Given the description of an element on the screen output the (x, y) to click on. 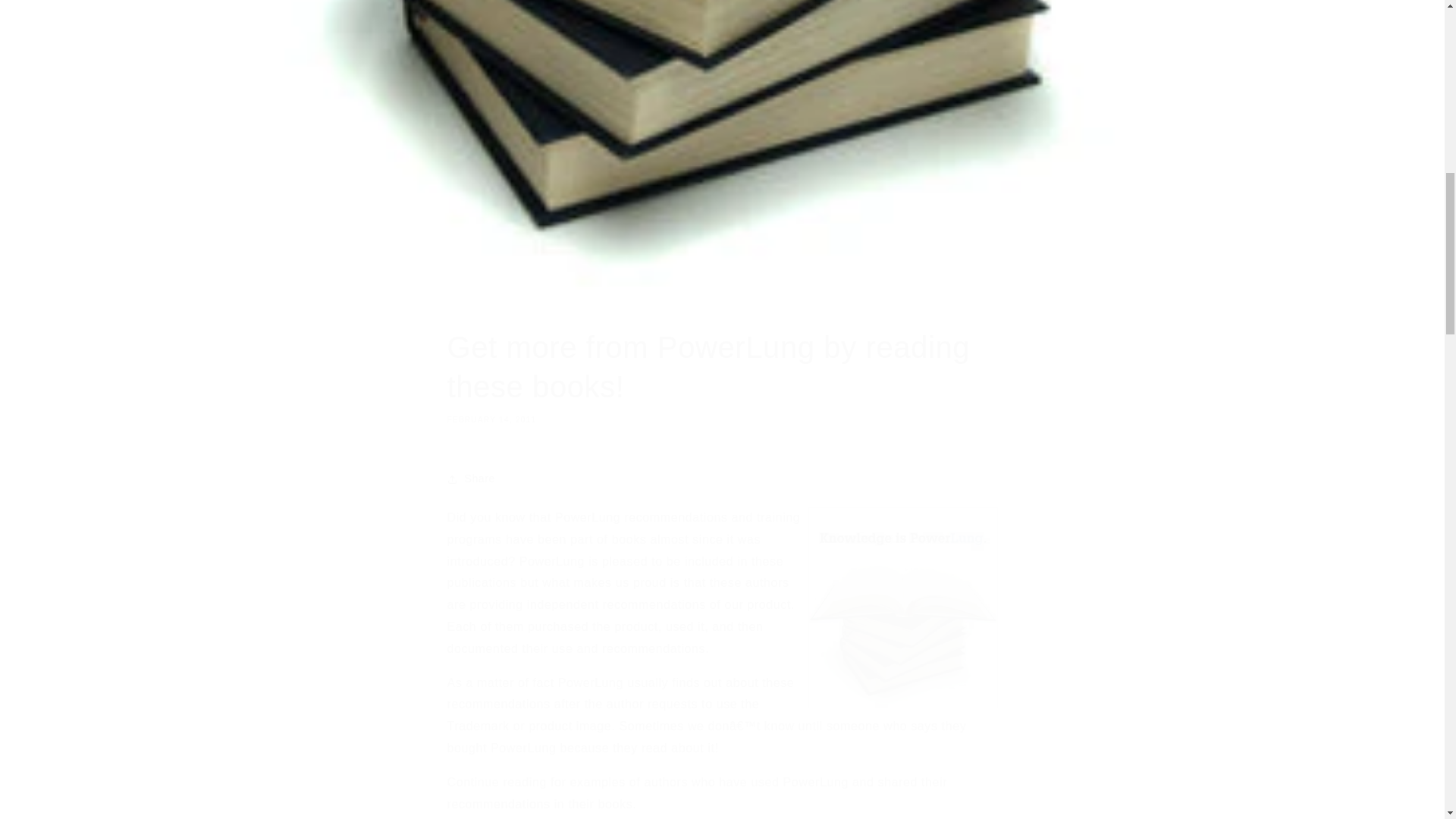
Share (721, 479)
